Given the description of an element on the screen output the (x, y) to click on. 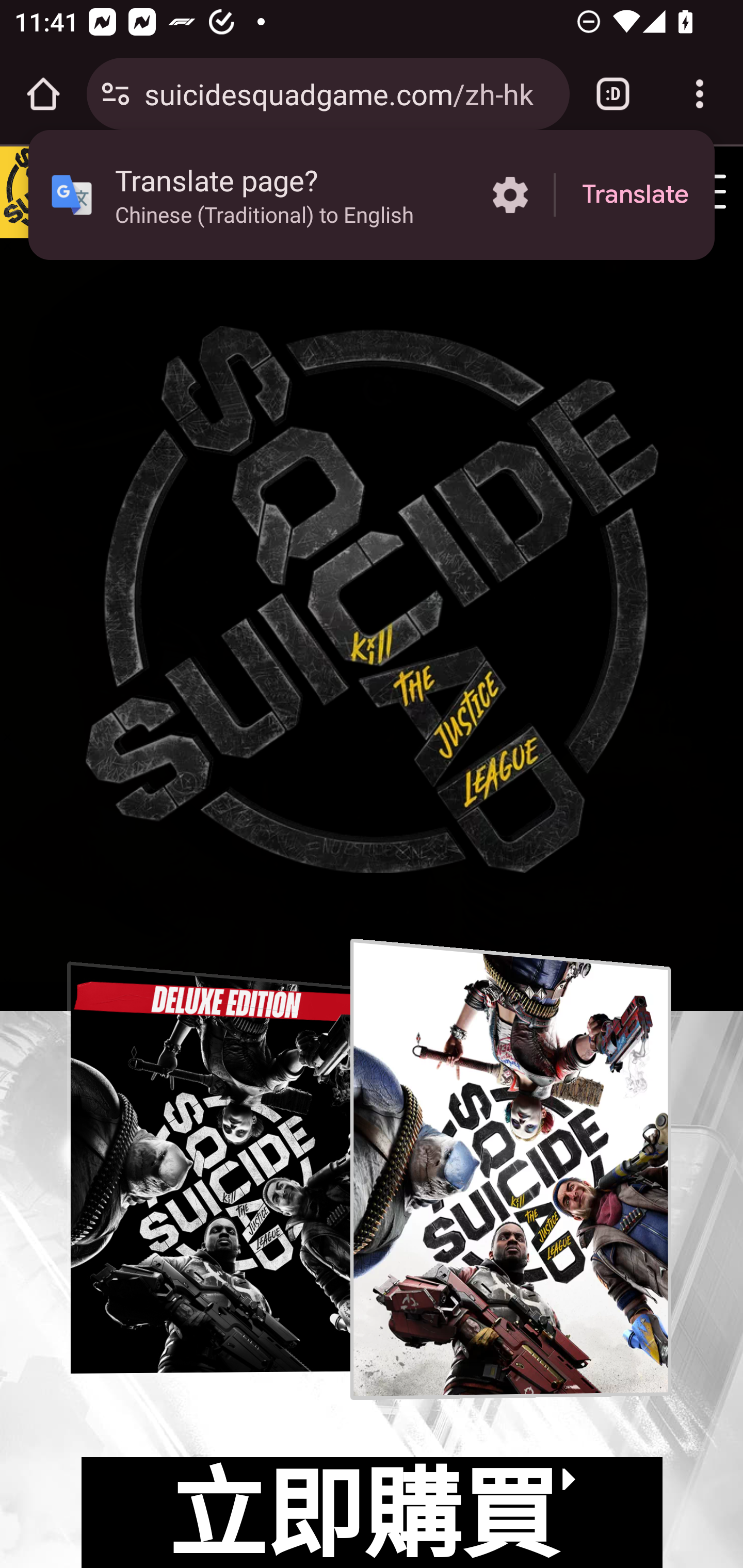
Open the home page (43, 93)
Connection is secure (115, 93)
Switch or close tabs (612, 93)
Customize and control Google Chrome (699, 93)
suicidesquadgame.com/zh-hk (349, 92)
Translate (634, 195)
More options in the Translate page? (509, 195)
現已發售 立即購買 立即購買 (371, 1289)
